Given the description of an element on the screen output the (x, y) to click on. 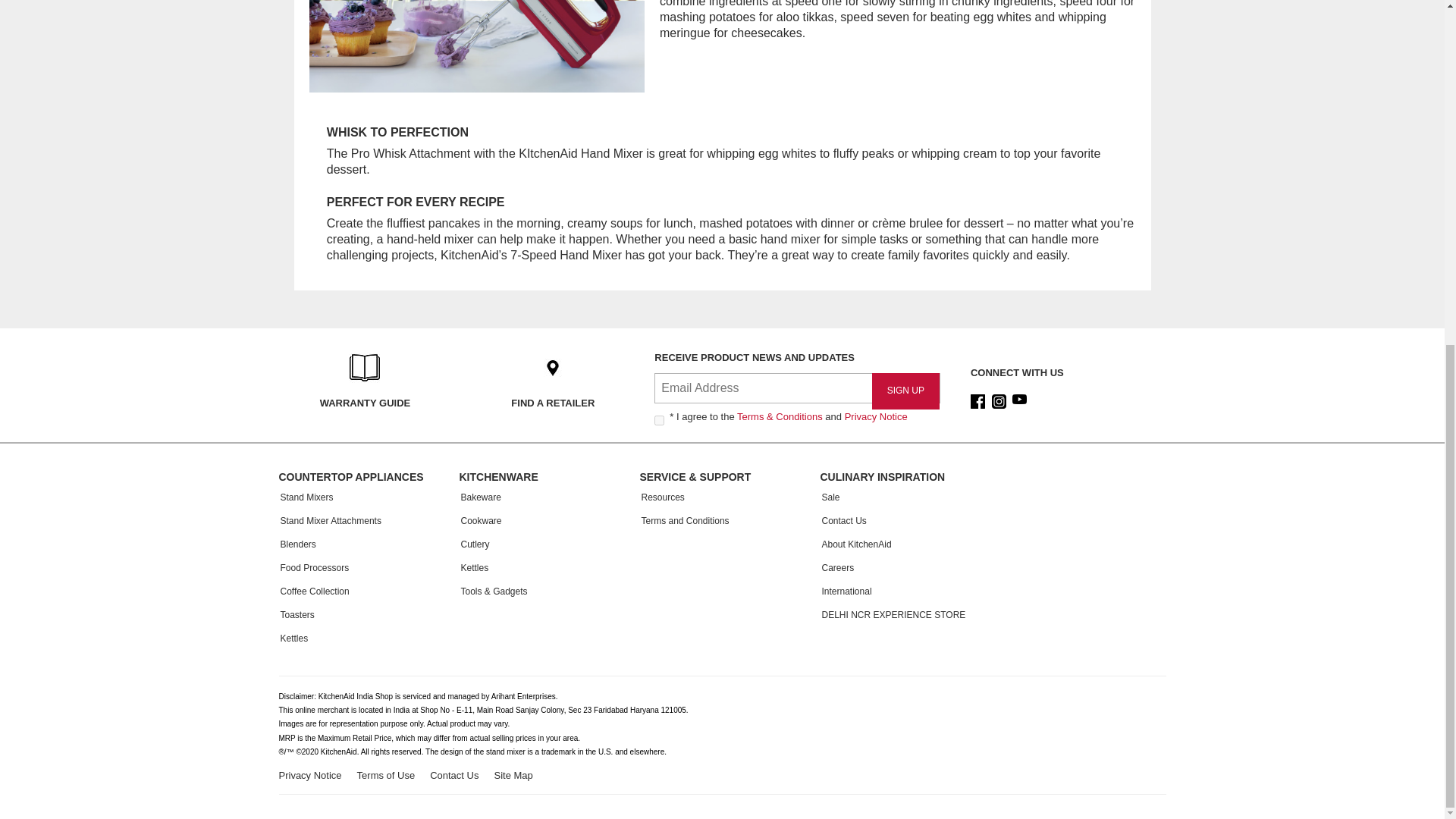
Sign Up (905, 391)
true (658, 420)
